Given the description of an element on the screen output the (x, y) to click on. 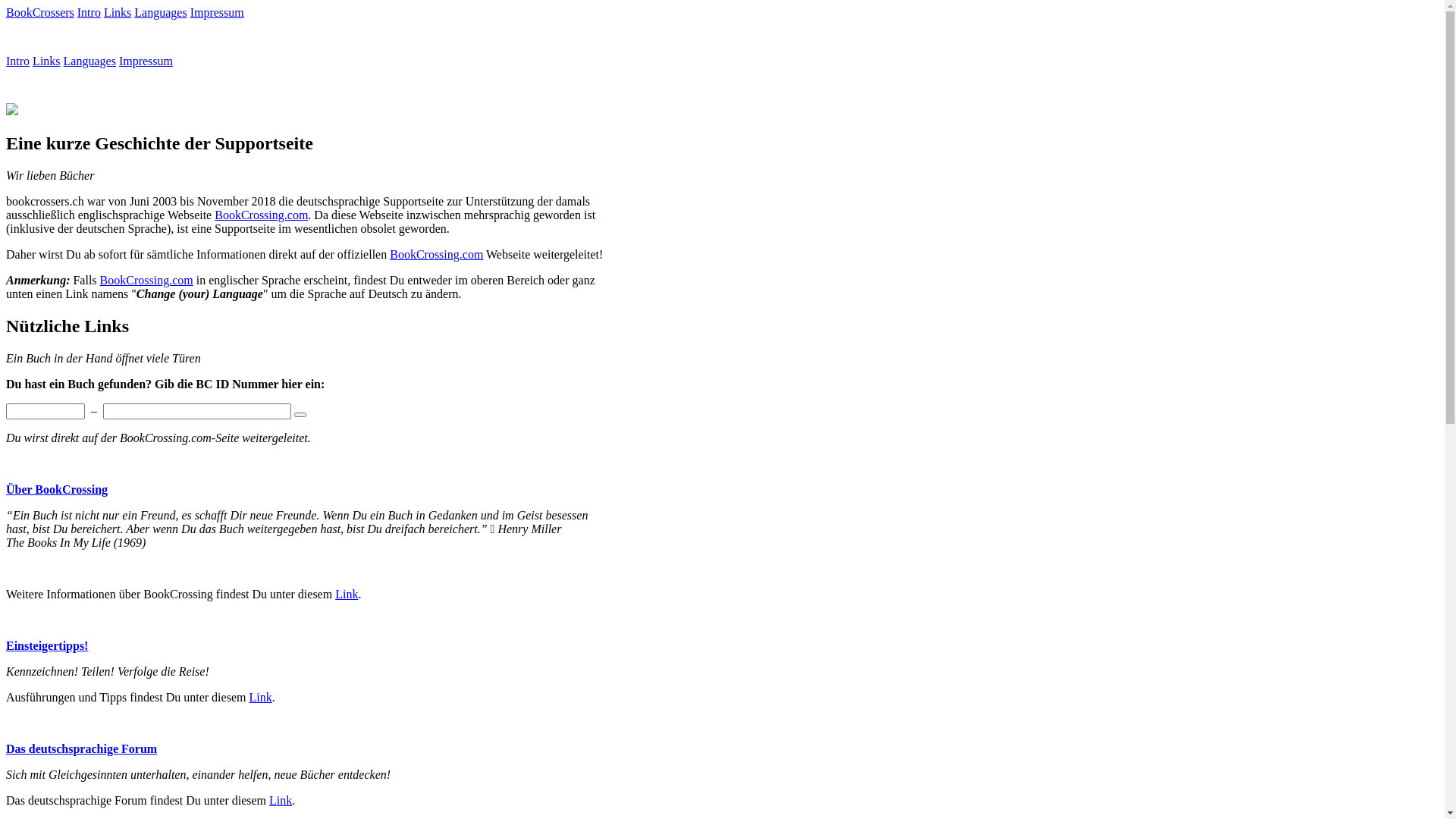
Languages Element type: text (160, 12)
Einsteigertipps! Element type: text (46, 645)
Das deutschsprachige Forum Element type: text (81, 748)
BookCrossing.com Element type: text (146, 279)
Link Element type: text (259, 696)
BookCrossing.com Element type: text (260, 214)
Impressum Element type: text (145, 60)
BookCrossing.com Element type: text (436, 253)
Intro Element type: text (17, 60)
Link Element type: text (346, 593)
BookCrossers Element type: text (40, 12)
Links Element type: text (117, 12)
Languages Element type: text (89, 60)
Links Element type: text (45, 60)
Link Element type: text (280, 799)
Impressum Element type: text (217, 12)
Intro Element type: text (88, 12)
